Given the description of an element on the screen output the (x, y) to click on. 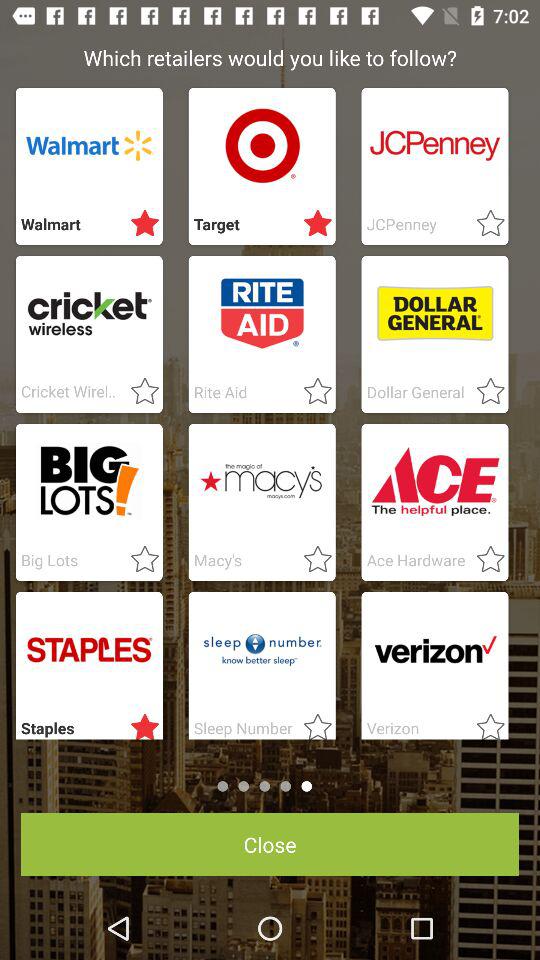
favorited (312, 723)
